Given the description of an element on the screen output the (x, y) to click on. 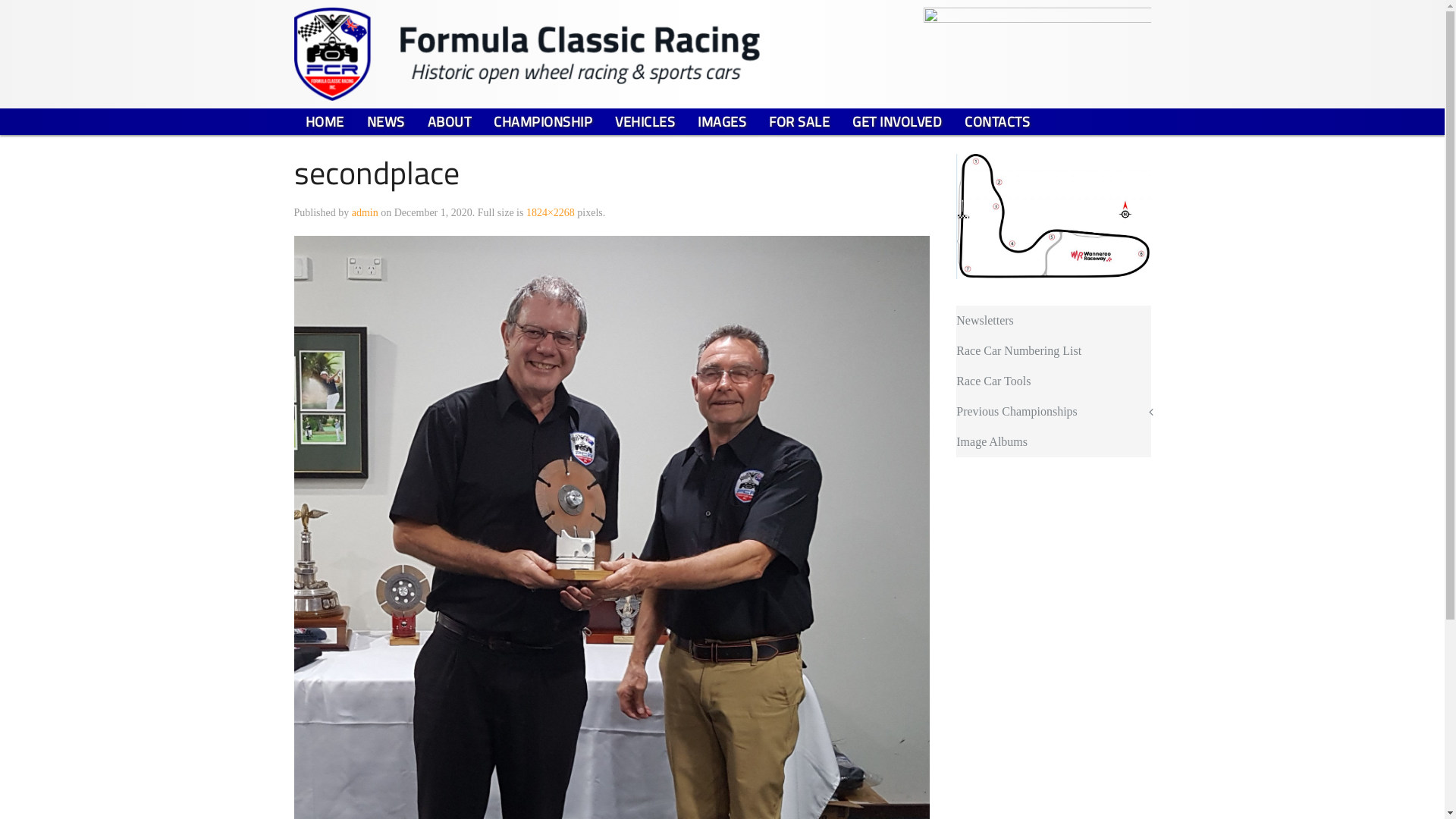
VEHICLES Element type: text (644, 121)
NEWS Element type: text (384, 121)
secondplace Element type: hover (612, 629)
Previous Championships Element type: text (1053, 411)
ABOUT Element type: text (448, 121)
CHAMPIONSHIP Element type: text (542, 121)
HOME Element type: text (324, 121)
Race Car Tools Element type: text (1053, 381)
FOR SALE Element type: text (798, 121)
Newsletters Element type: text (1053, 320)
IMAGES Element type: text (721, 121)
Image Albums Element type: text (1053, 441)
CONTACTS Element type: text (997, 121)
Race Car Numbering List Element type: text (1053, 350)
admin Element type: text (364, 212)
GET INVOLVED Element type: text (896, 121)
